Given the description of an element on the screen output the (x, y) to click on. 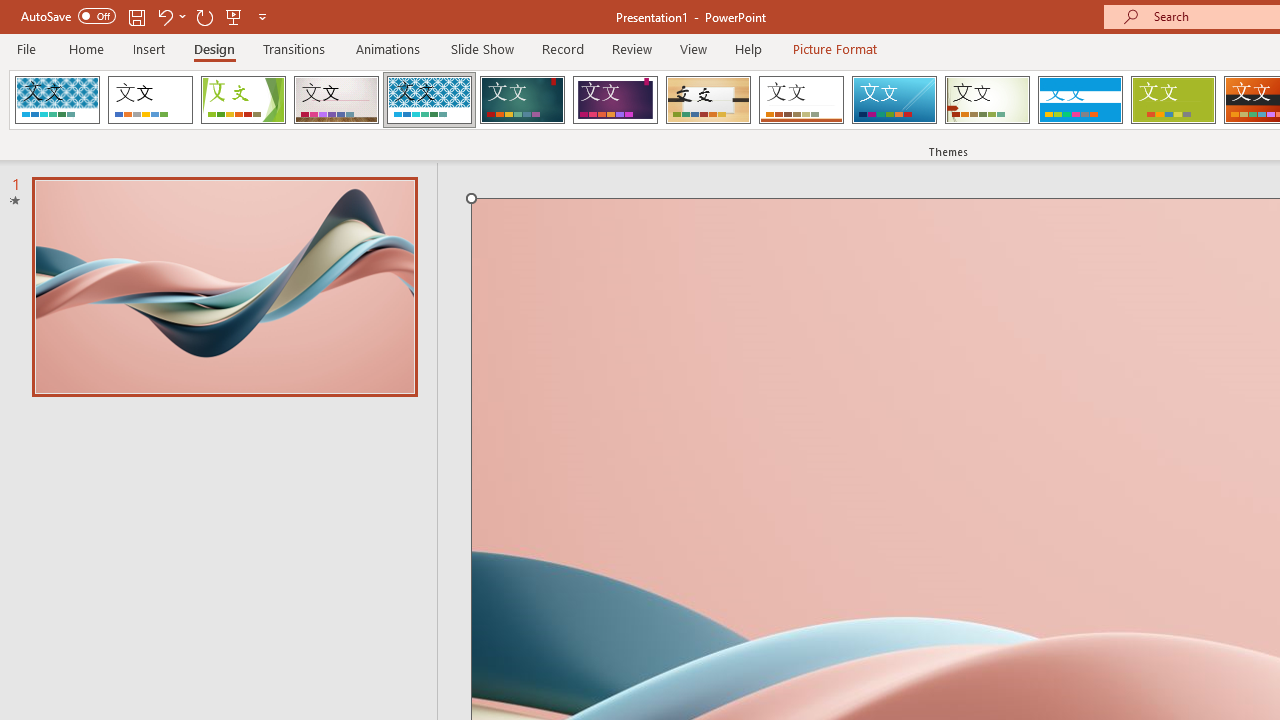
Gallery (336, 100)
Retrospect (801, 100)
Ion Boardroom (615, 100)
Wisp (987, 100)
